Given the description of an element on the screen output the (x, y) to click on. 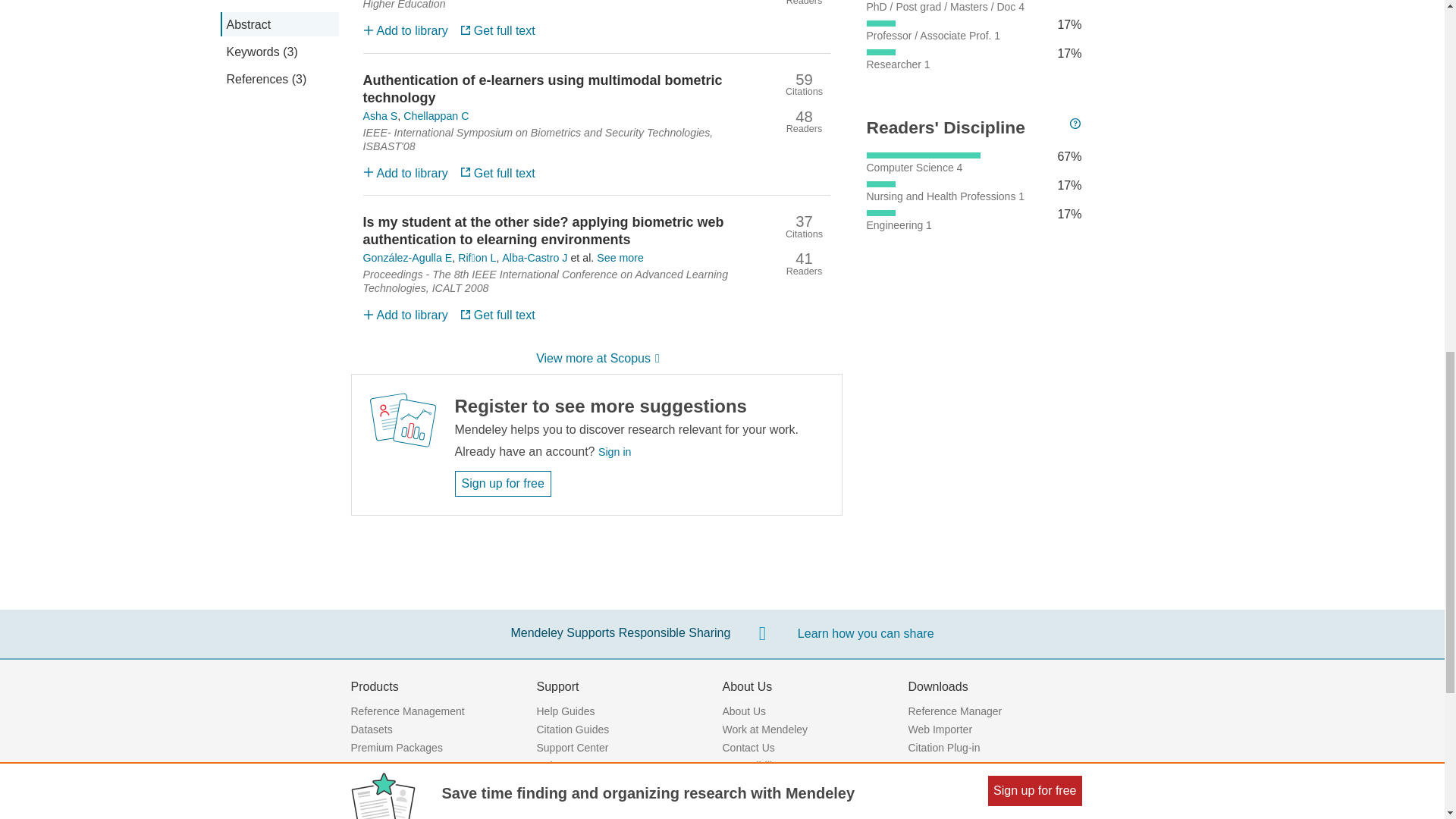
Sign up for free (502, 483)
Reference Management (407, 711)
Add to library (404, 30)
Premium Packages (396, 747)
Get full text (497, 30)
Add to library (404, 172)
See more (619, 257)
Learn how you can share (865, 633)
Add to library (404, 314)
Chellappan C (435, 115)
